Given the description of an element on the screen output the (x, y) to click on. 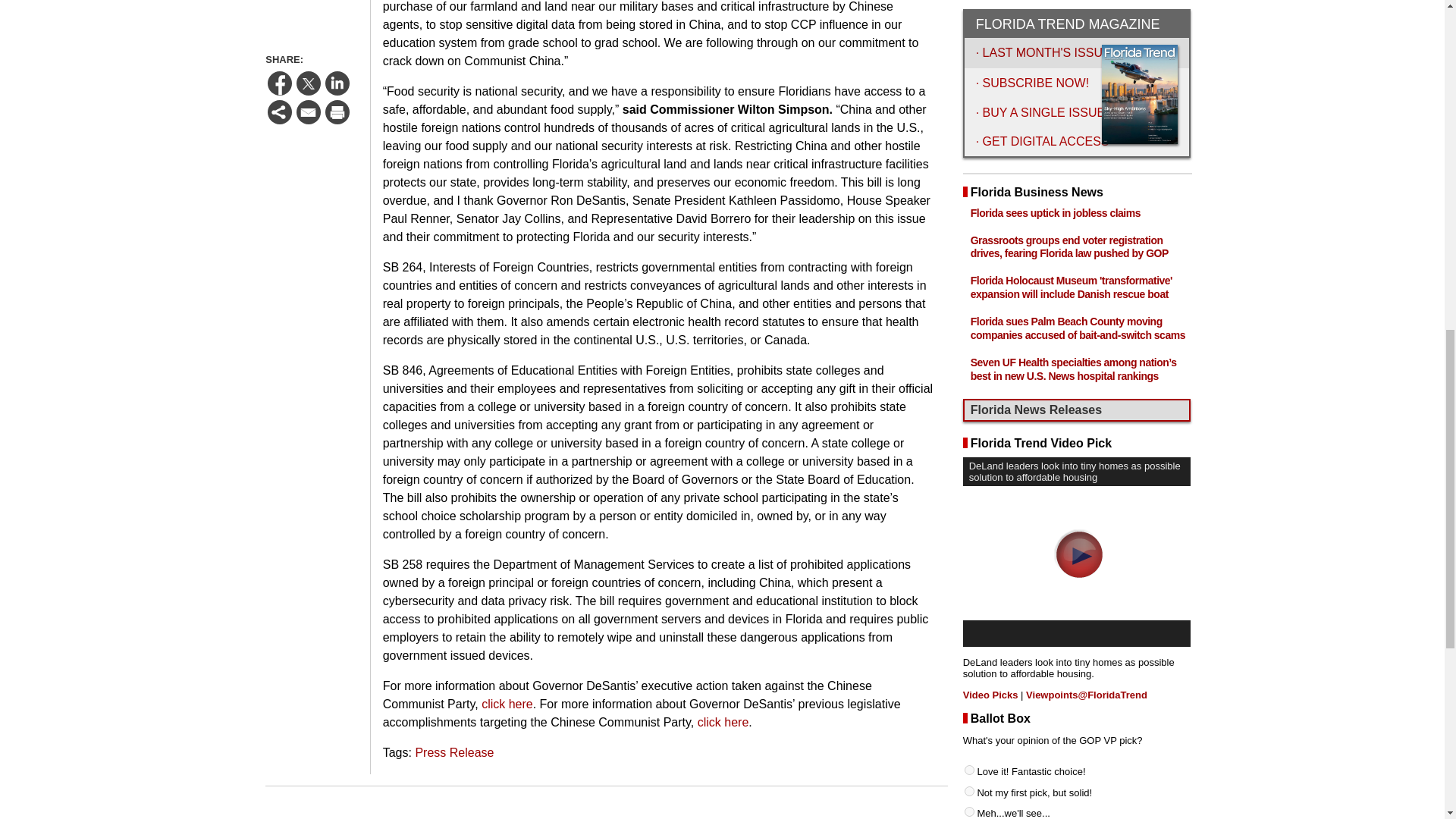
4069 (968, 312)
4066 (968, 250)
4068 (968, 292)
4067 (968, 271)
4070 (968, 333)
